Given the description of an element on the screen output the (x, y) to click on. 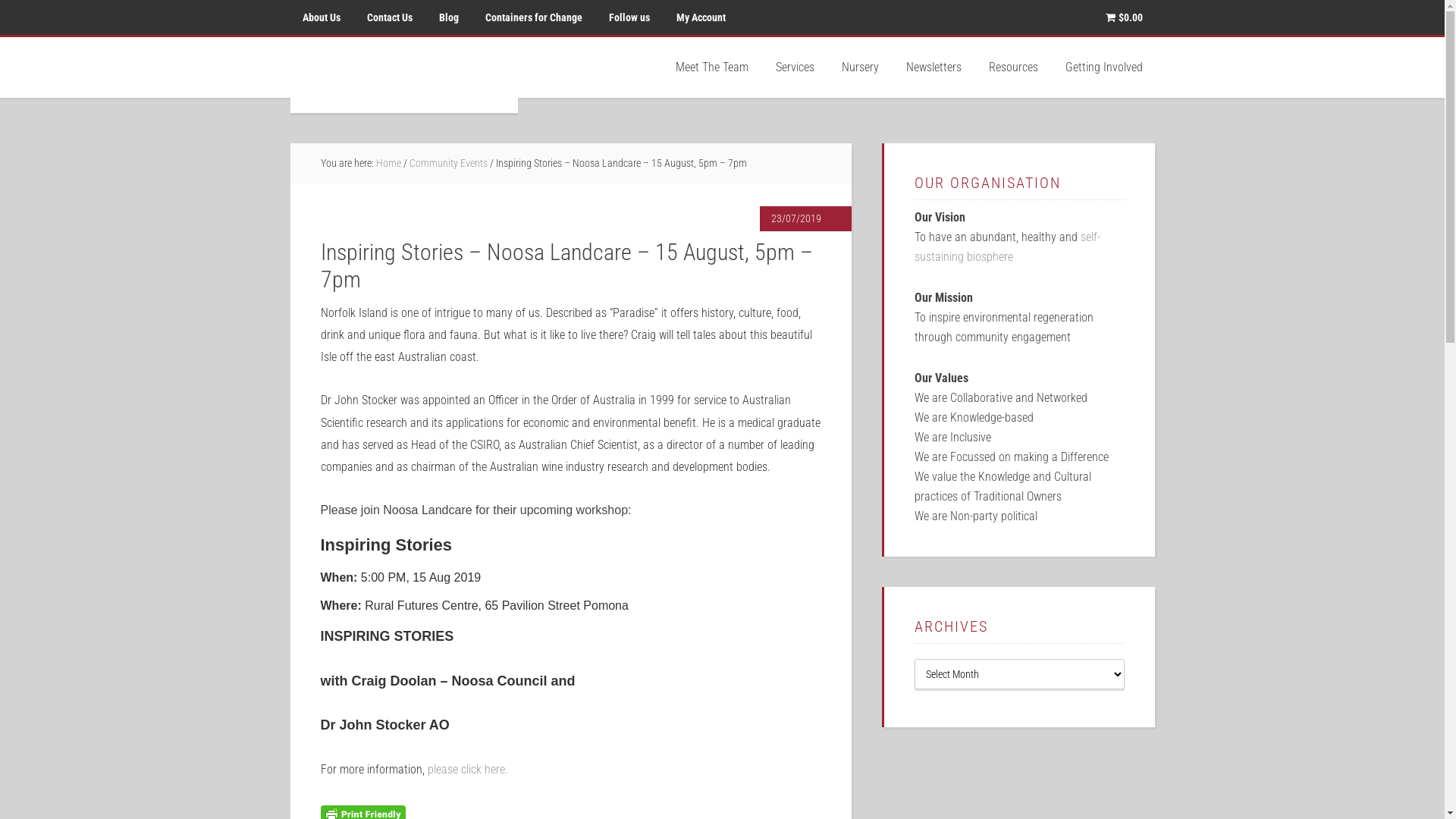
My Account Element type: text (700, 17)
Meet The Team Element type: text (710, 67)
Community Events Element type: text (448, 162)
Follow us Element type: text (628, 17)
GYMPIE DISTRICT LANDCARE Element type: text (403, 74)
self-sustaining Element type: text (1007, 246)
About Us Element type: text (320, 17)
Blog Element type: text (448, 17)
Resources Element type: text (1013, 67)
Containers for Change Element type: text (533, 17)
biosphere Element type: text (989, 256)
Services Element type: text (793, 67)
Newsletters Element type: text (932, 67)
Home Element type: text (388, 162)
Nursery Element type: text (860, 67)
Contact Us Element type: text (389, 17)
please click here. Element type: text (467, 769)
$0.00 Element type: text (1123, 17)
Getting Involved Element type: text (1103, 67)
